Given the description of an element on the screen output the (x, y) to click on. 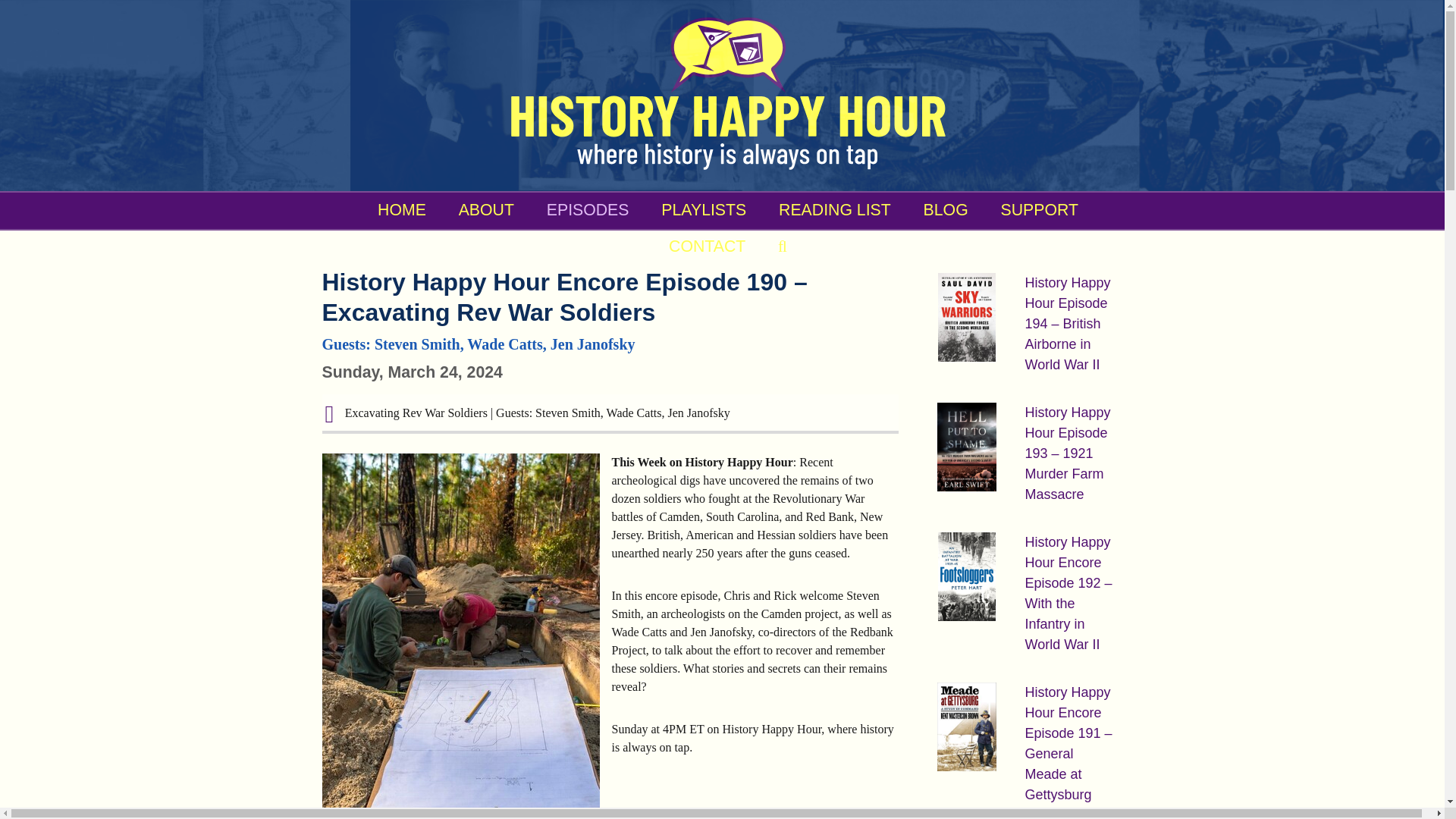
EPISODES (587, 209)
BLOG (945, 209)
READING LIST (834, 209)
PLAYLISTS (703, 209)
CONTACT (706, 246)
HOME (401, 209)
ABOUT (485, 209)
SUPPORT (1039, 209)
